Given the description of an element on the screen output the (x, y) to click on. 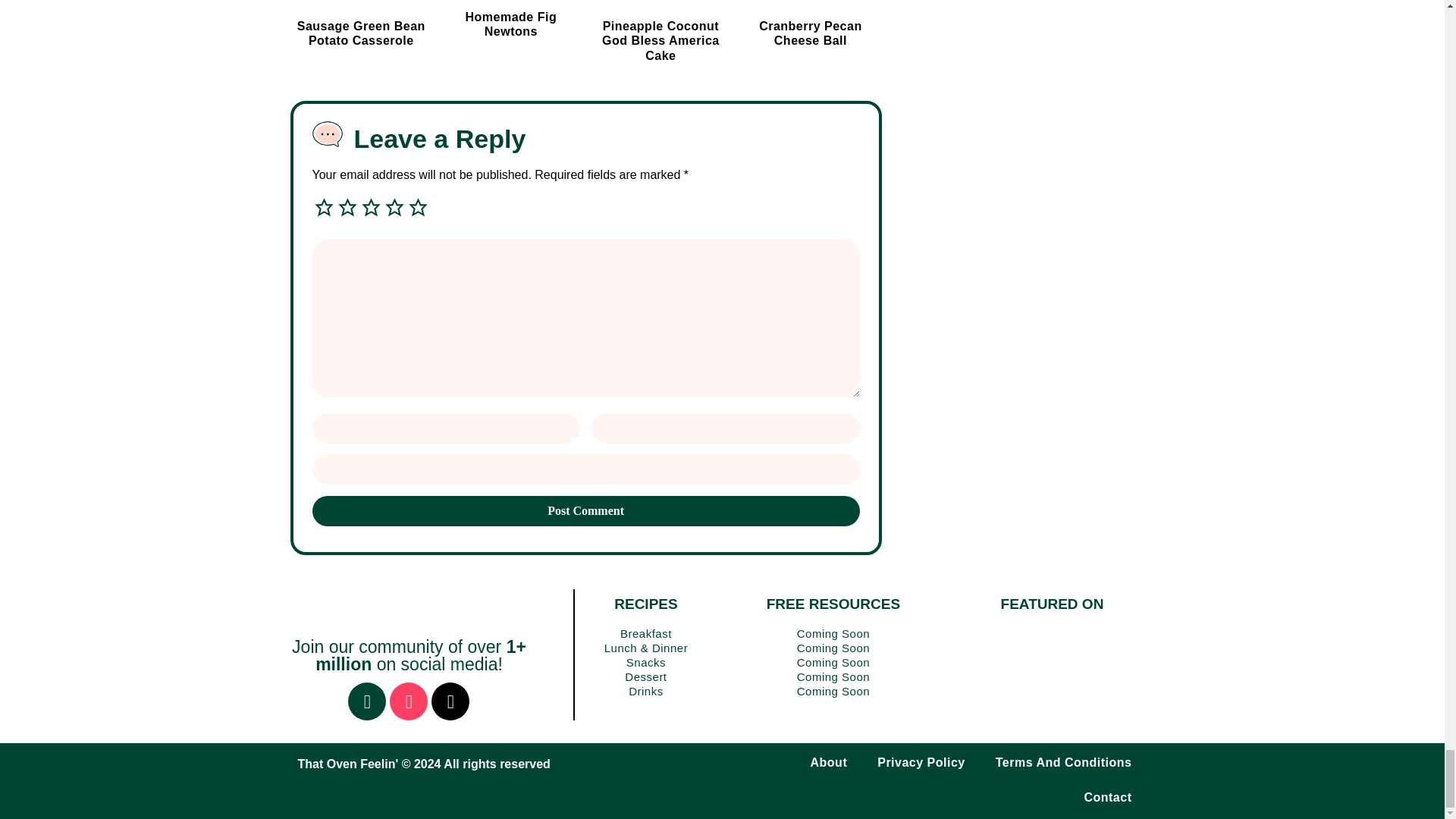
Post Comment (586, 511)
